Given the description of an element on the screen output the (x, y) to click on. 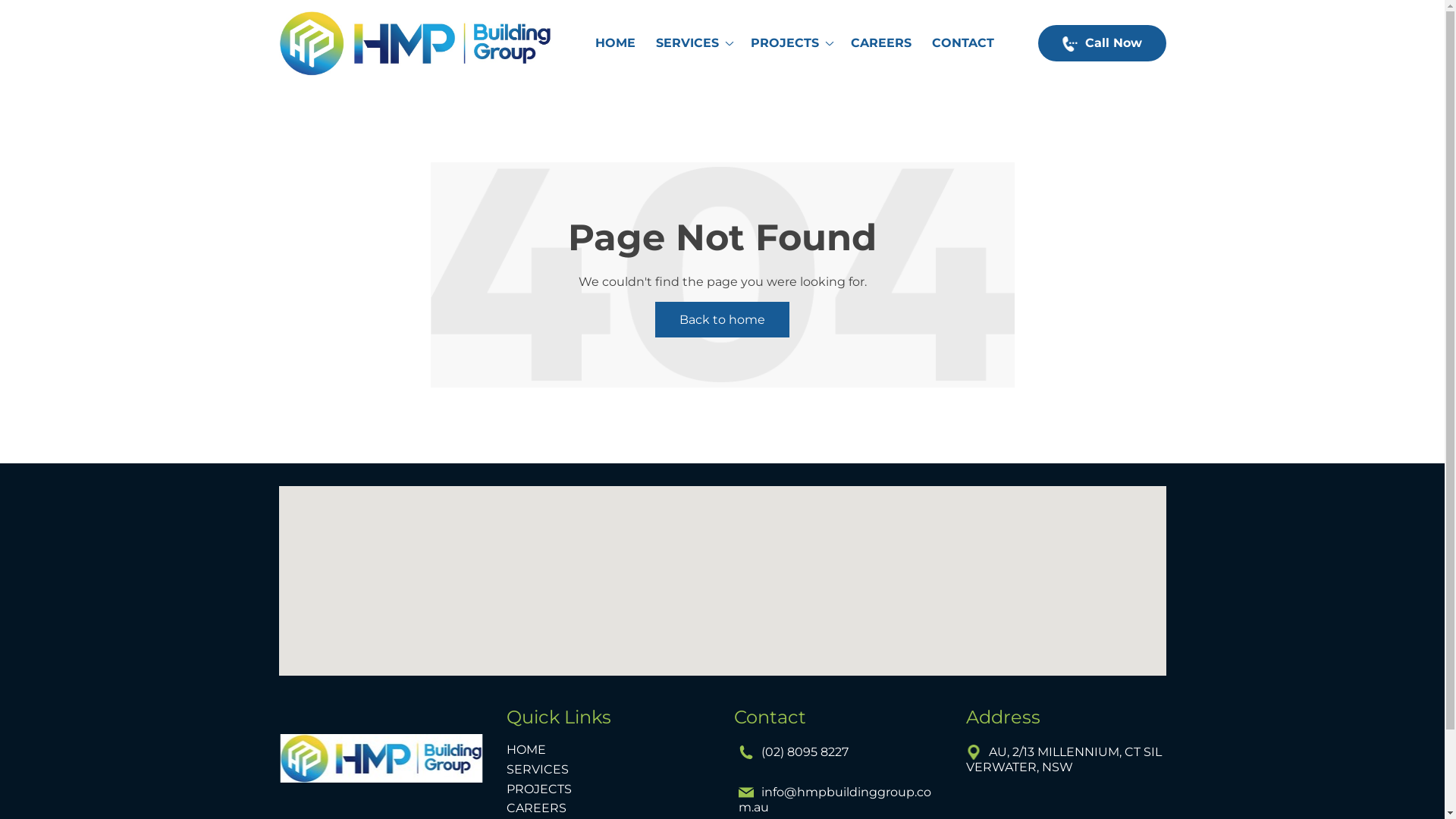
CAREERS Element type: text (536, 807)
HOME Element type: text (614, 43)
Call Now Element type: text (1101, 42)
CONTACT Element type: text (962, 43)
SERVICES Element type: text (537, 769)
Back to home Element type: text (722, 319)
PROJECTS Element type: text (538, 789)
(02) 8095 8227  Element type: text (795, 752)
HOME Element type: text (526, 749)
PROJECTS Element type: text (790, 43)
CAREERS Element type: text (881, 43)
SERVICES Element type: text (692, 43)
AU, 2/13 MILLENNIUM, CT SILVERWATER, NSW Element type: text (1063, 759)
